Given the description of an element on the screen output the (x, y) to click on. 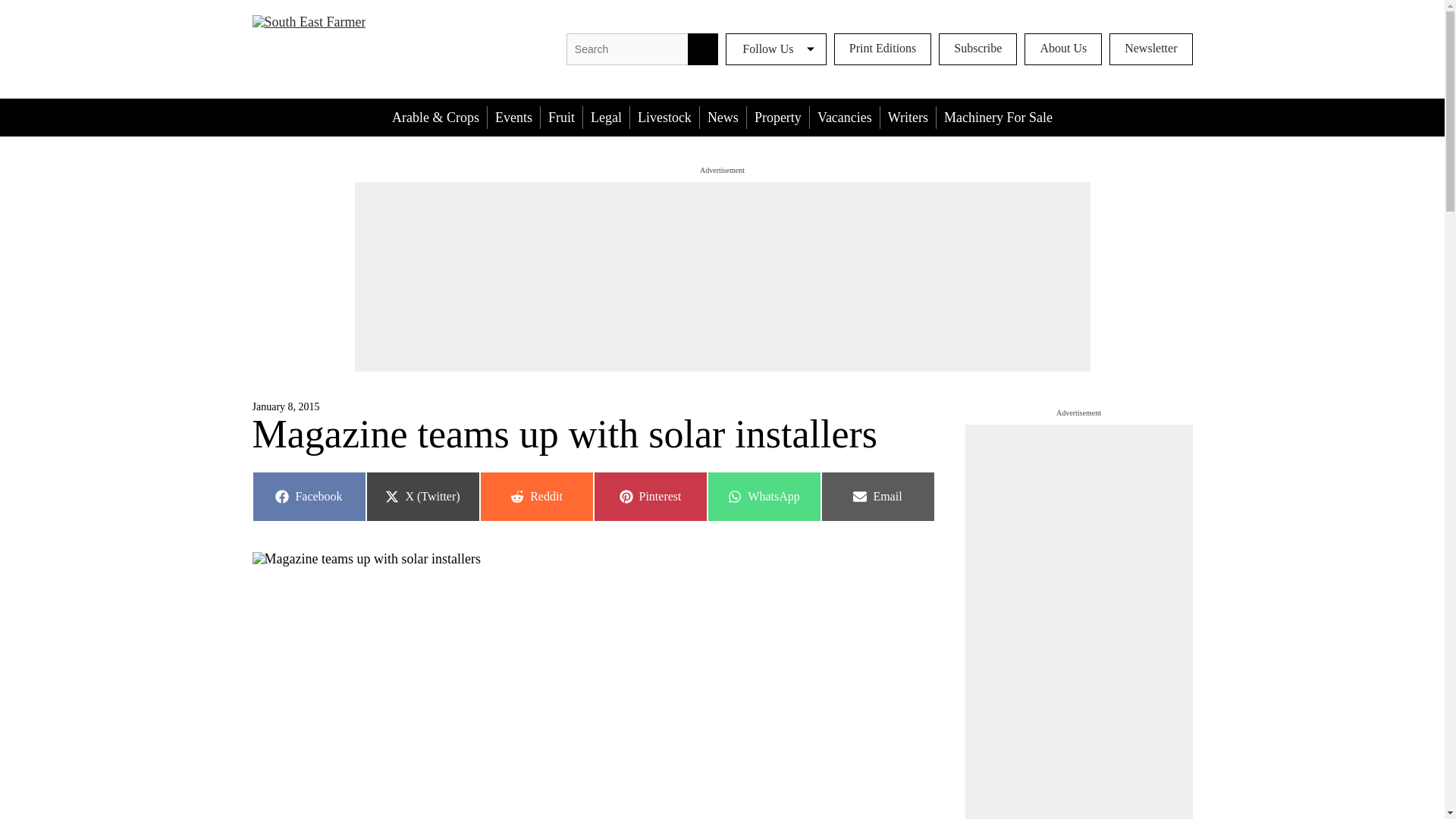
Property (777, 117)
Machinery For Sale (997, 117)
Newsletter (1150, 49)
Follow Us (776, 49)
News (722, 117)
Livestock (535, 496)
Fruit (664, 117)
Writers (561, 117)
Legal (908, 117)
